Given the description of an element on the screen output the (x, y) to click on. 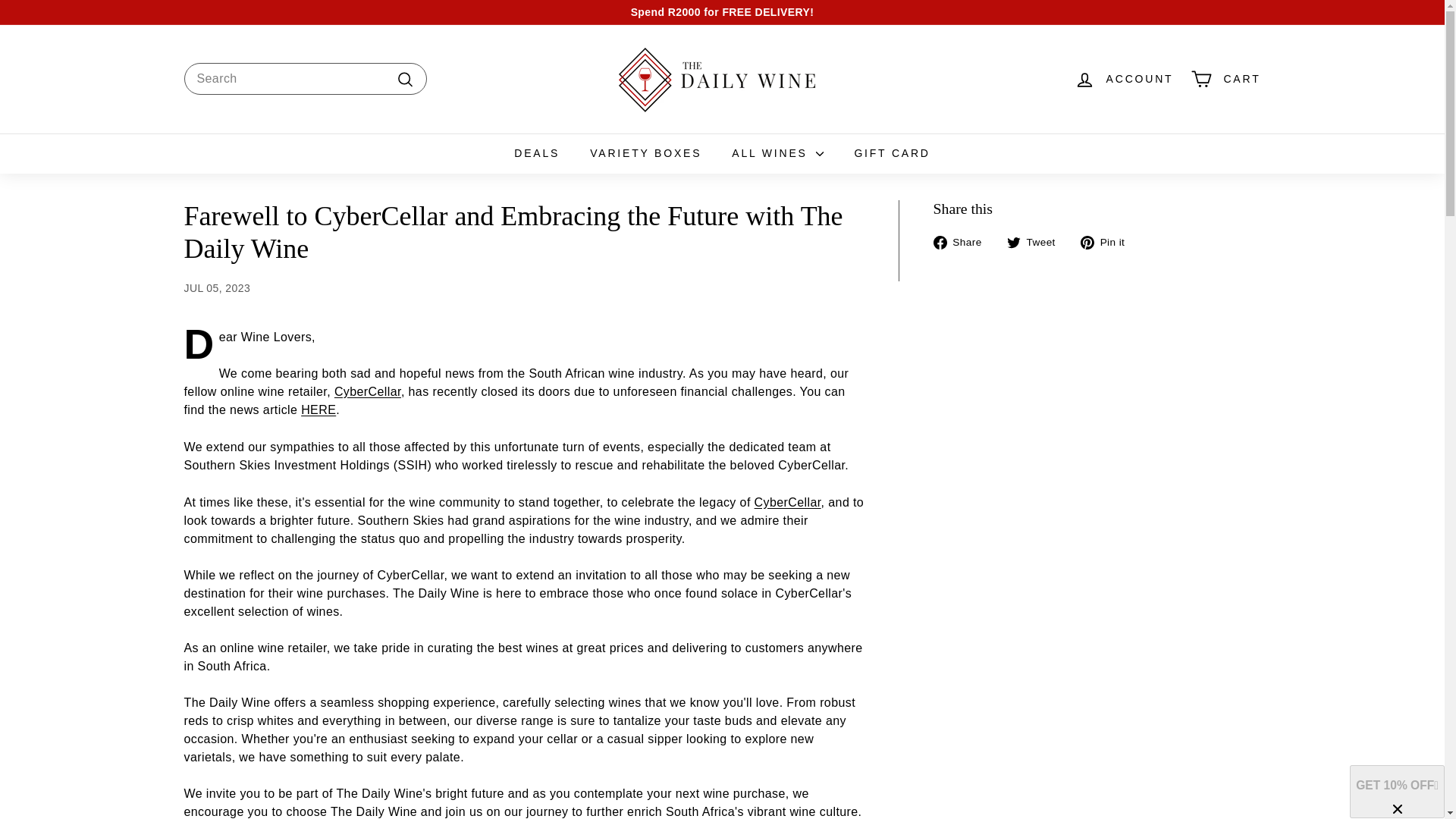
Pin on Pinterest (1107, 241)
VARIETY BOXES (645, 153)
DEALS (537, 153)
Share on Facebook (962, 241)
CART (1225, 78)
ACCOUNT (1123, 78)
Tweet on Twitter (1037, 241)
twitter (1013, 242)
